Given the description of an element on the screen output the (x, y) to click on. 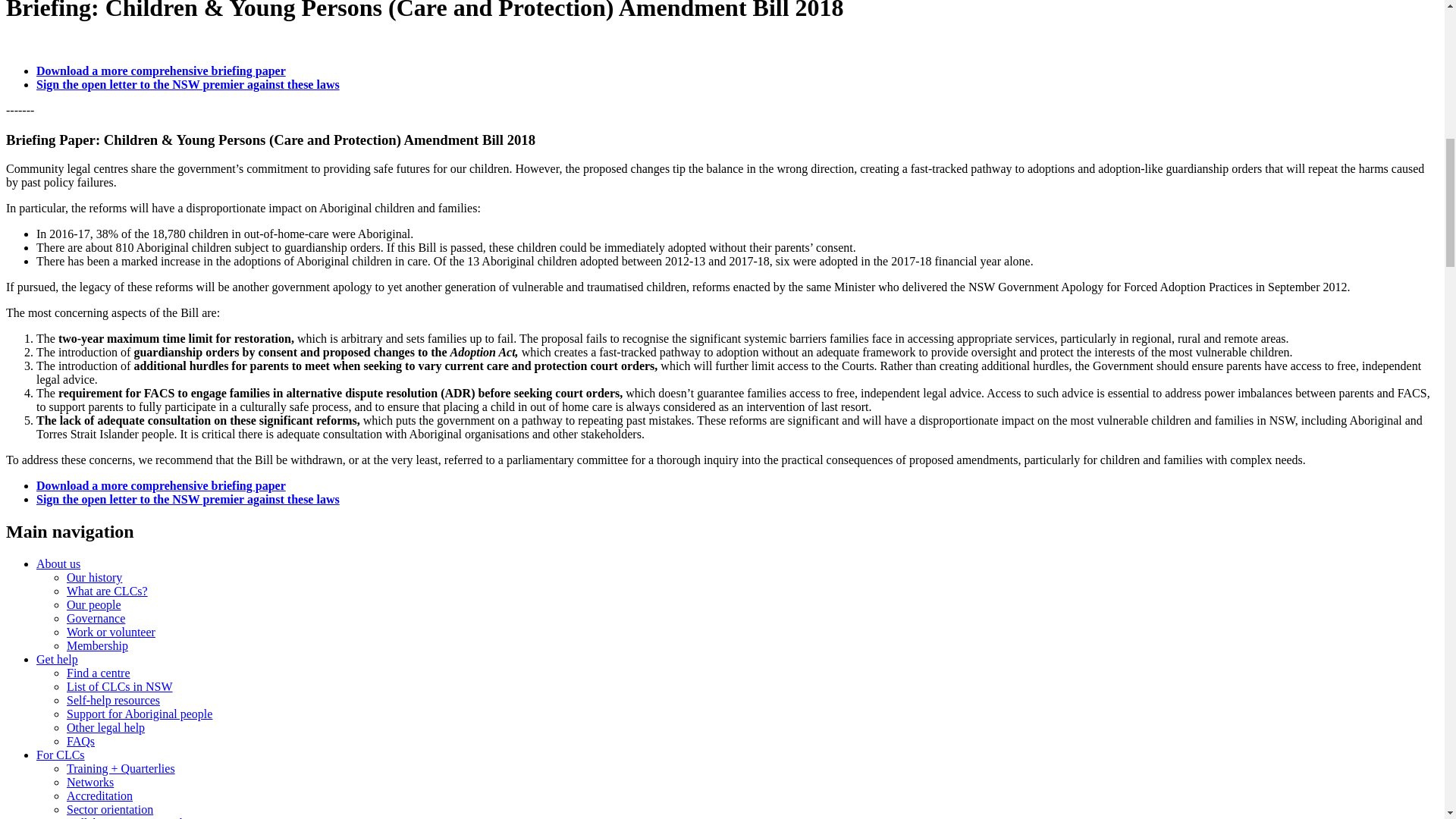
Find legal help (57, 658)
History of community legal centres in NSW (94, 576)
Frequently asked questions (80, 740)
Find legal help - for Aboriginal people (139, 713)
About Community Legal Centres NSW (58, 563)
